Given the description of an element on the screen output the (x, y) to click on. 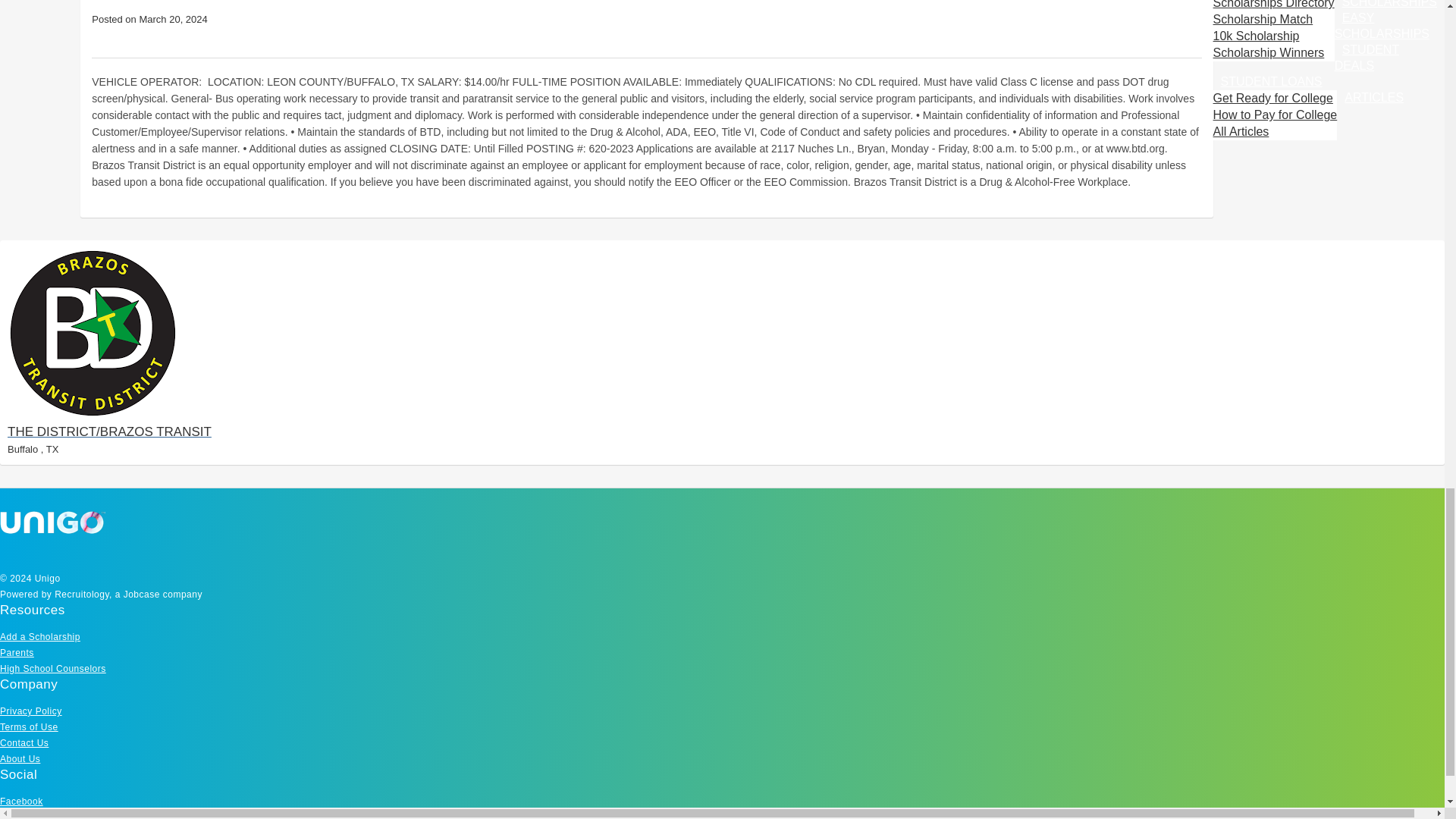
High School Counselors (53, 668)
Facebook (21, 801)
STUDENT LOANS (1271, 81)
STUDENT DEALS (1367, 57)
SCHOLARSHIPS (1389, 8)
Add a Scholarship (40, 636)
Contact Us (24, 742)
All Articles (1240, 131)
Privacy Policy (31, 710)
10k Scholarship (1256, 35)
